Given the description of an element on the screen output the (x, y) to click on. 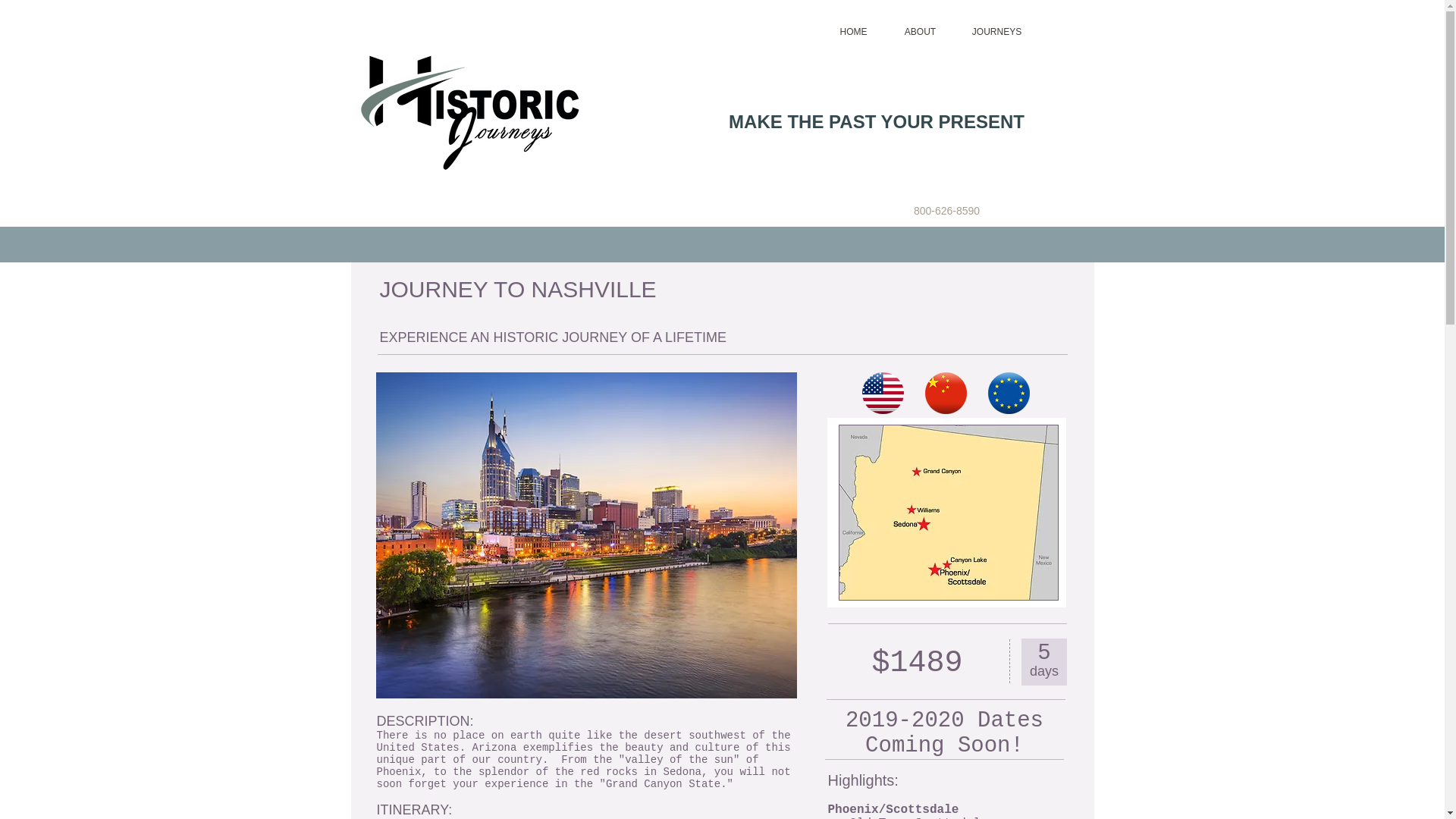
HOME (853, 32)
JOURNEYS (996, 32)
ABOUT (919, 32)
